Given the description of an element on the screen output the (x, y) to click on. 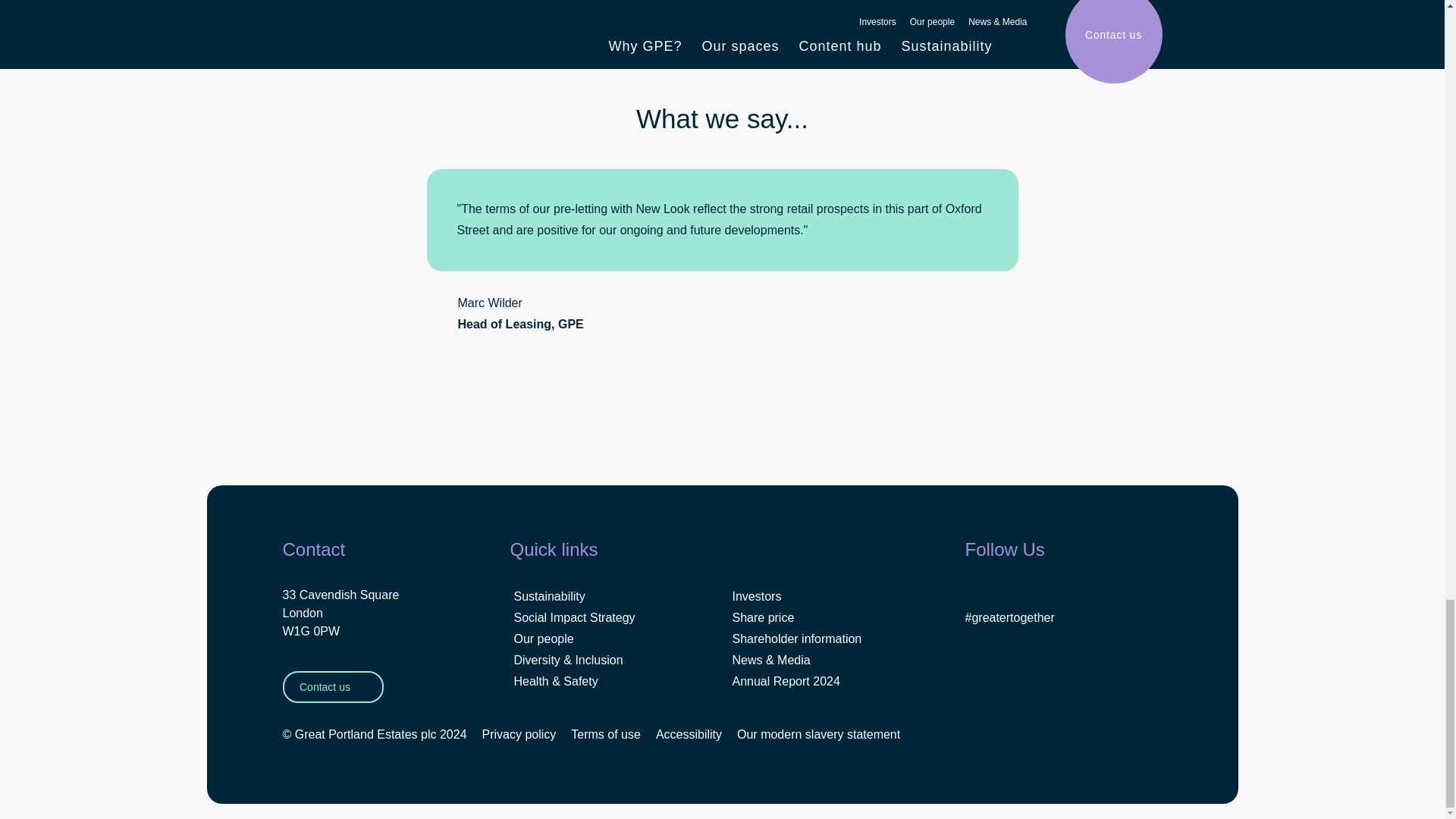
LinkedIn (436, 416)
Twitter (404, 416)
Email us (500, 416)
Facebook (468, 416)
